Given the description of an element on the screen output the (x, y) to click on. 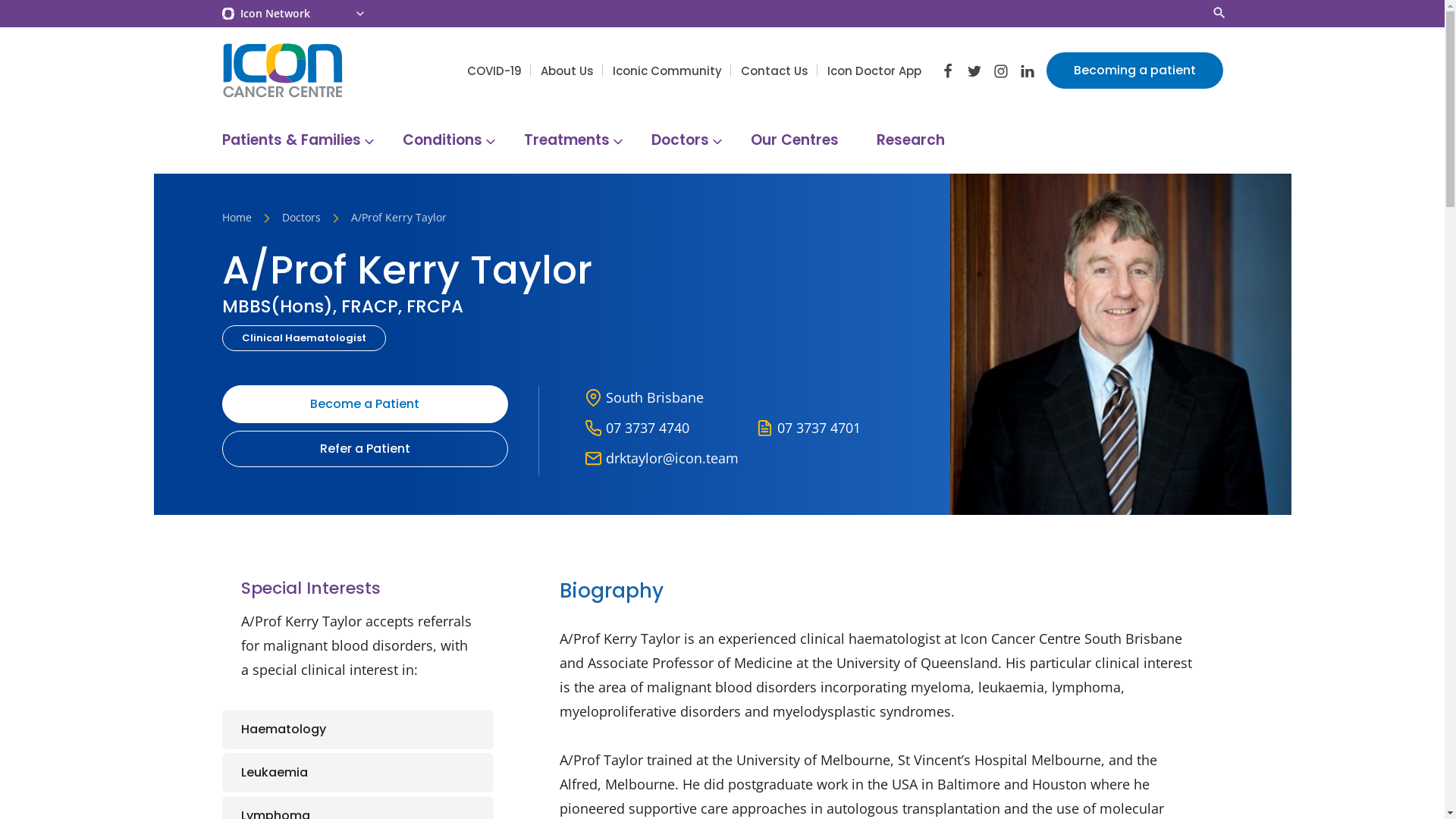
Doctors Element type: text (301, 218)
Become a Patient Element type: text (364, 404)
COVID-19 Element type: text (494, 71)
Treatments Element type: text (568, 141)
Research Element type: text (909, 141)
drktaylor@icon.team Element type: text (671, 457)
Becoming a patient Element type: text (1134, 70)
Patients & Families Element type: text (293, 141)
Iconic Community Element type: text (666, 71)
About Us Element type: text (566, 71)
Doctors Element type: text (681, 141)
Refer a Patient Element type: text (364, 448)
Contact Us Element type: text (773, 71)
07 3737 4740 Element type: text (647, 427)
Home Element type: text (236, 218)
Conditions Element type: text (444, 141)
Our Centres Element type: text (793, 141)
Icon Doctor App Element type: text (873, 71)
